Given the description of an element on the screen output the (x, y) to click on. 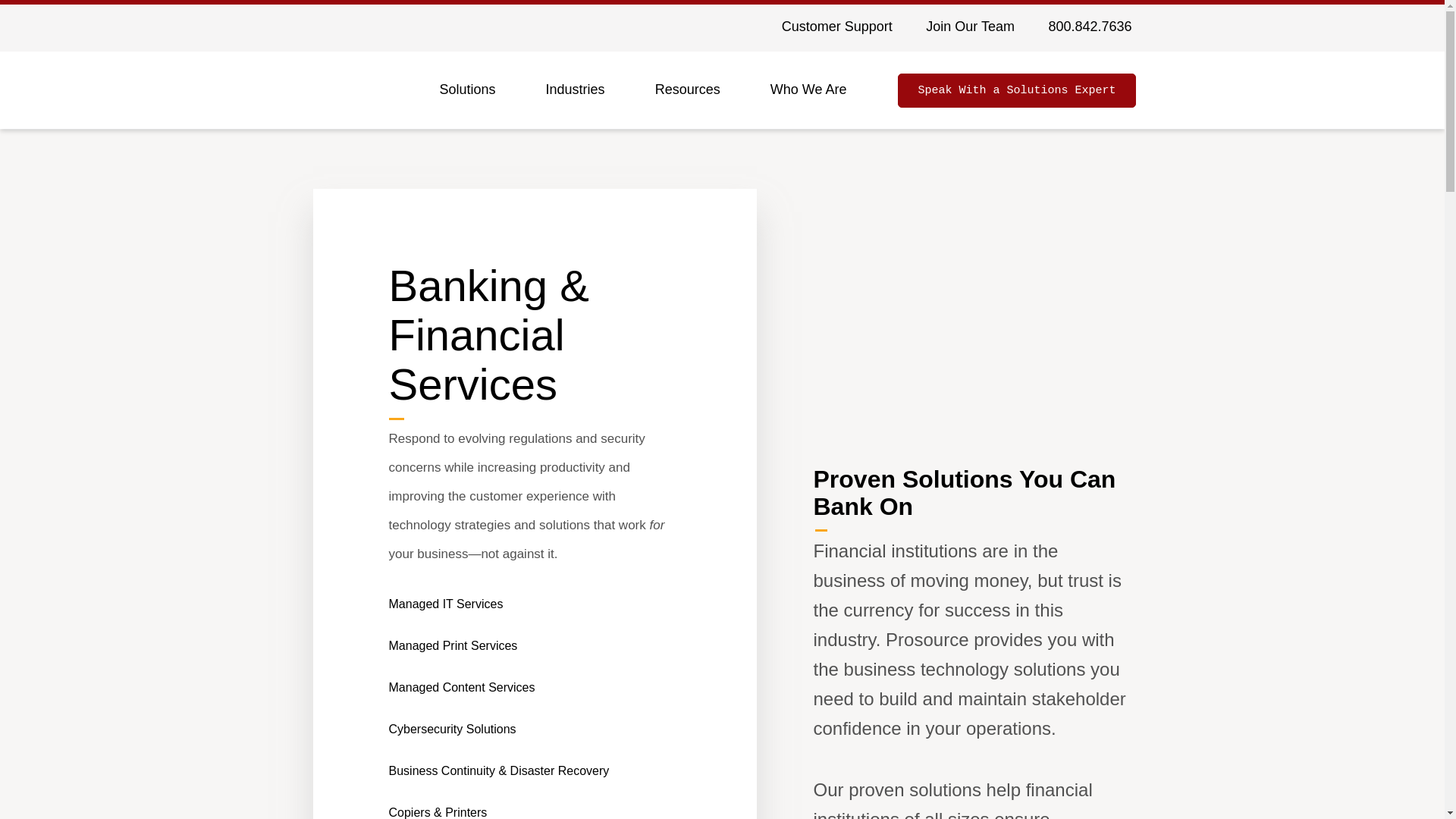
Solutions (475, 94)
Join Our Team (970, 27)
Who We Are (816, 94)
Customer Support (837, 27)
800.842.7636 (1089, 27)
Industries (582, 94)
Resources (694, 94)
